Given the description of an element on the screen output the (x, y) to click on. 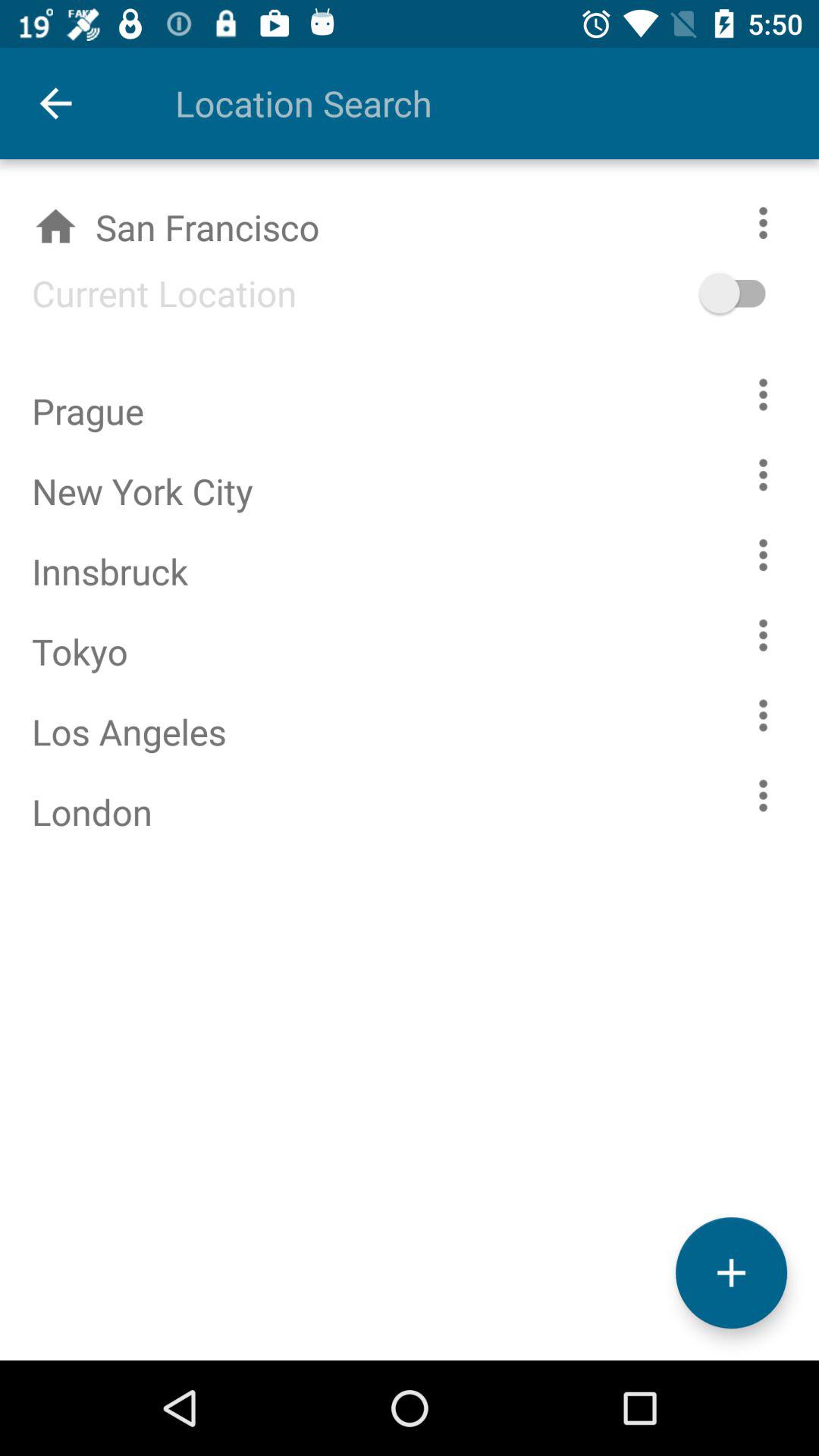
select icon above the prague (148, 293)
